Given the description of an element on the screen output the (x, y) to click on. 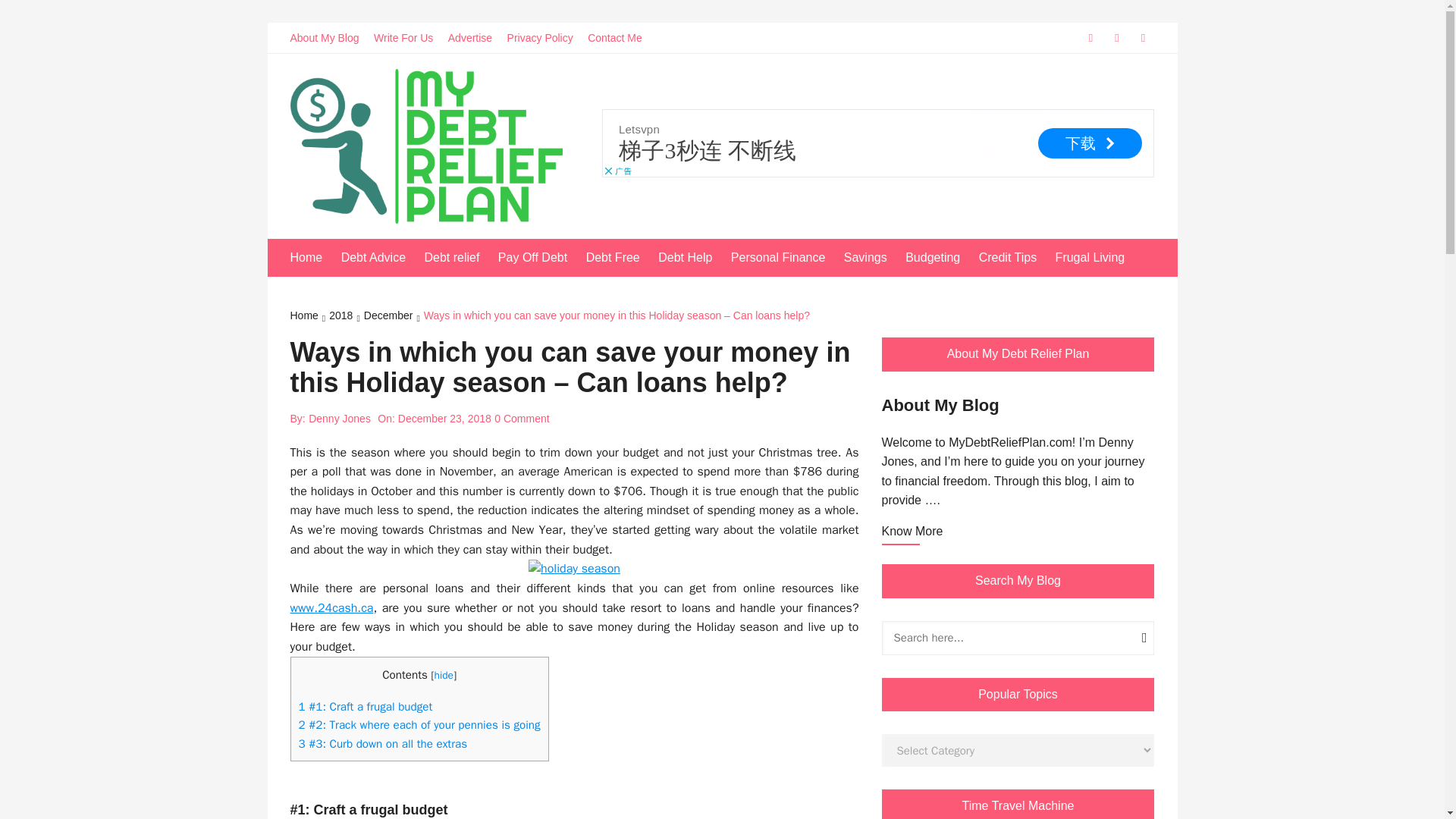
Debt Advice (380, 257)
Debt Help (692, 257)
Budgeting (940, 257)
Contact Me (620, 37)
Advertise (475, 37)
Home (309, 316)
Advertisement (878, 142)
About My Blog (329, 37)
Privacy Policy (545, 37)
Home (313, 257)
Write For Us (409, 37)
Frugal Living (1097, 257)
Pay Off Debt (539, 257)
2018 (346, 316)
Debt relief (459, 257)
